Given the description of an element on the screen output the (x, y) to click on. 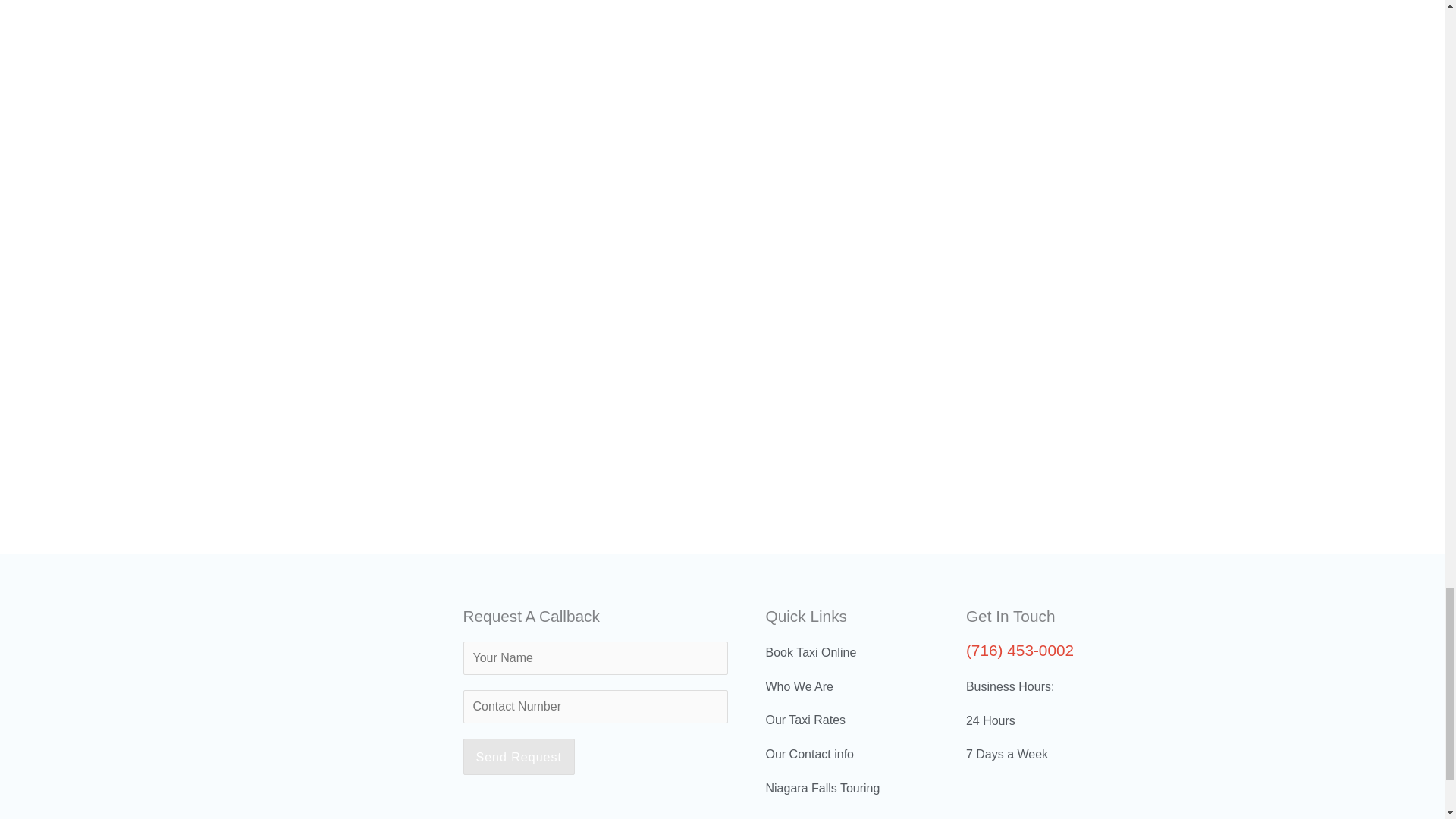
Who We Are (846, 686)
Book Taxi Online (846, 652)
Our Contact info (846, 753)
Niagara Falls Touring (846, 788)
Send Request (518, 756)
Our Taxi Rates (846, 720)
